Given the description of an element on the screen output the (x, y) to click on. 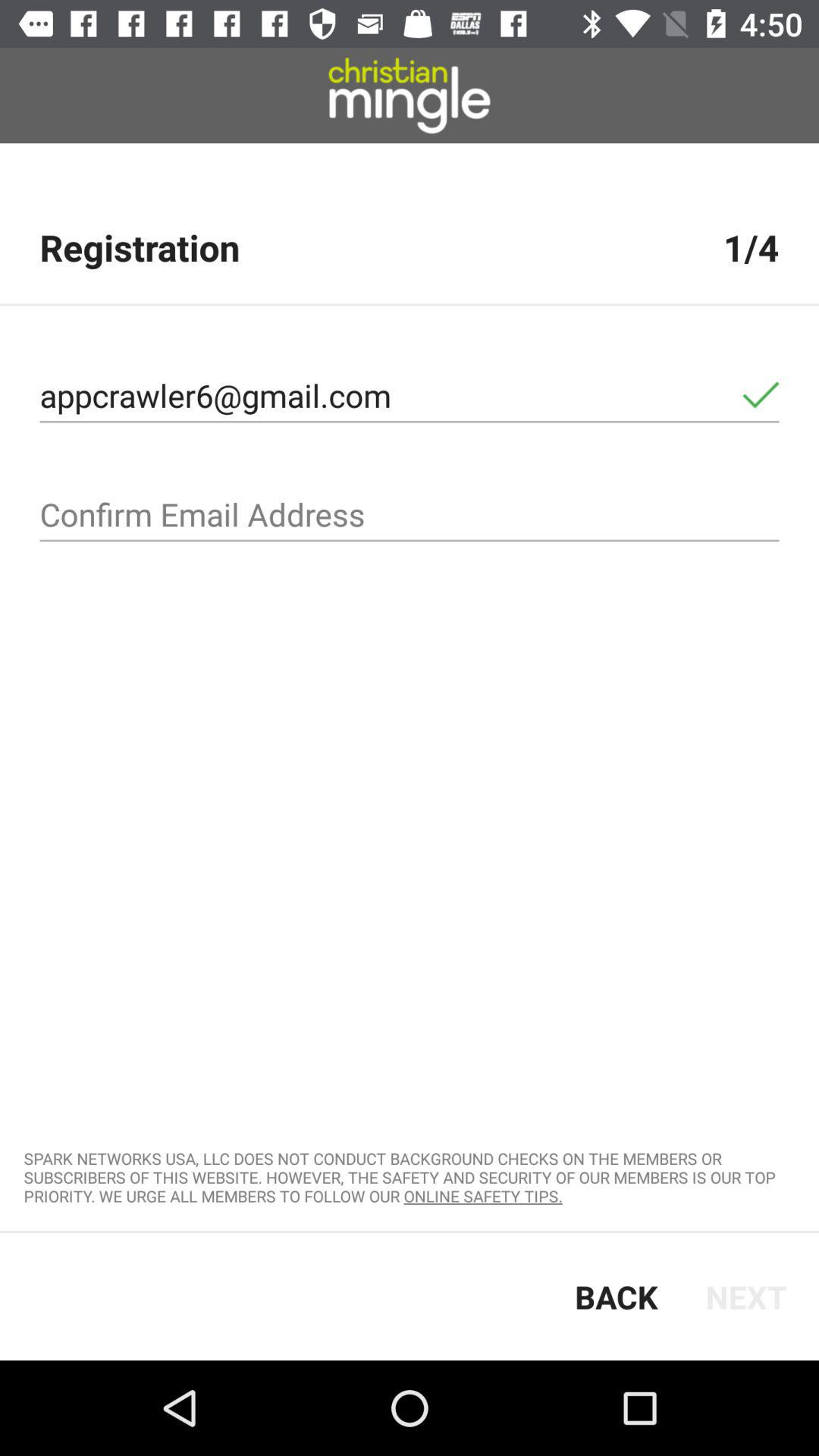
re-enter address (409, 514)
